Given the description of an element on the screen output the (x, y) to click on. 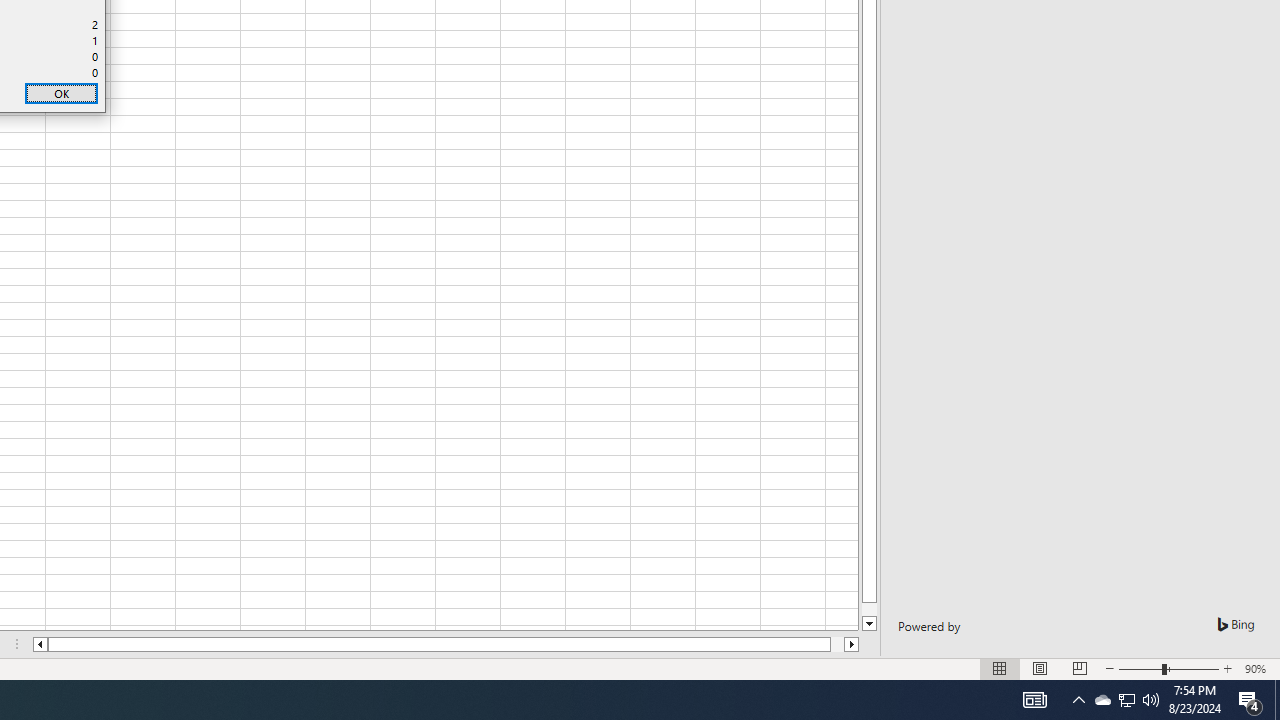
AutomationID: 4105 (1034, 699)
Zoom In (1227, 668)
Page down (869, 609)
Page right (836, 644)
User Promoted Notification Area (1102, 699)
Column left (1126, 699)
Action Center, 4 new notifications (39, 644)
Page Break Preview (1250, 699)
Column right (1079, 668)
Page Layout (852, 644)
Show desktop (1126, 699)
Normal (1039, 668)
